Given the description of an element on the screen output the (x, y) to click on. 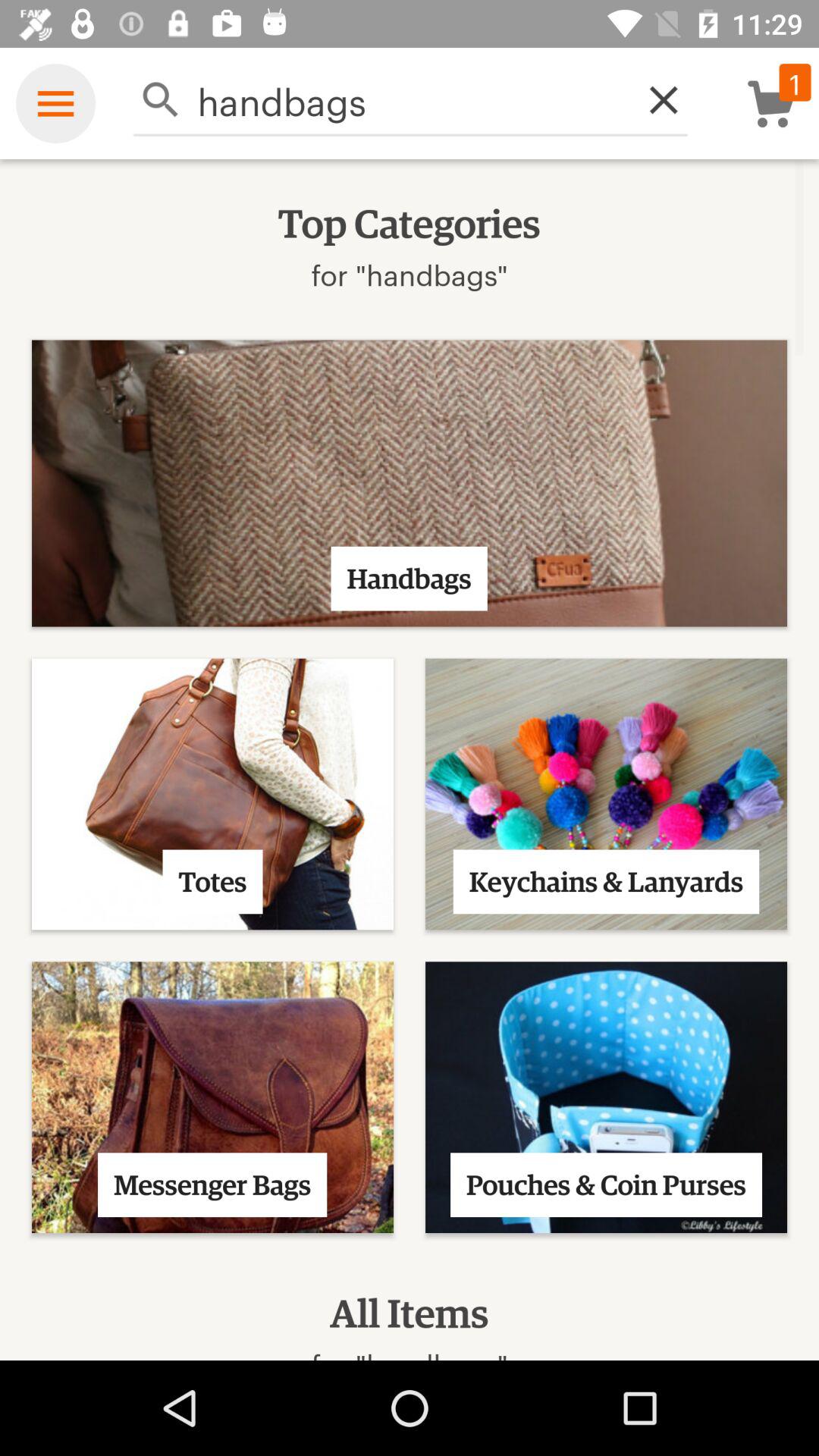
click icon next to handbags (655, 99)
